Given the description of an element on the screen output the (x, y) to click on. 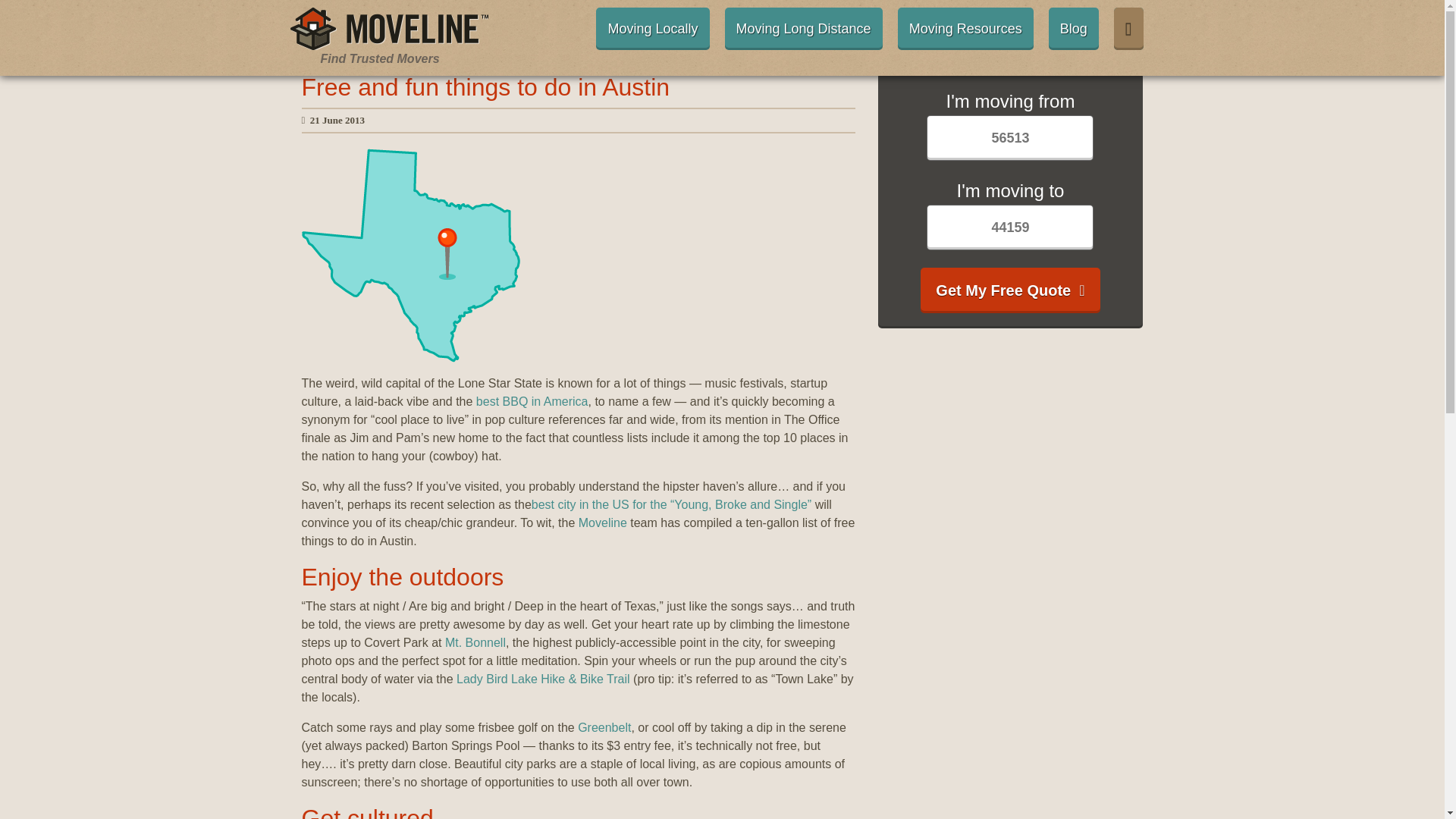
Moving Long Distance (803, 27)
Moving Locally (652, 27)
best BBQ in America (532, 400)
Greenbelt (604, 727)
Mt. Bonnell (475, 642)
Blog (1073, 27)
Moveline (602, 522)
Moving Resources (965, 27)
Get My Free Quote   (1009, 289)
